Given the description of an element on the screen output the (x, y) to click on. 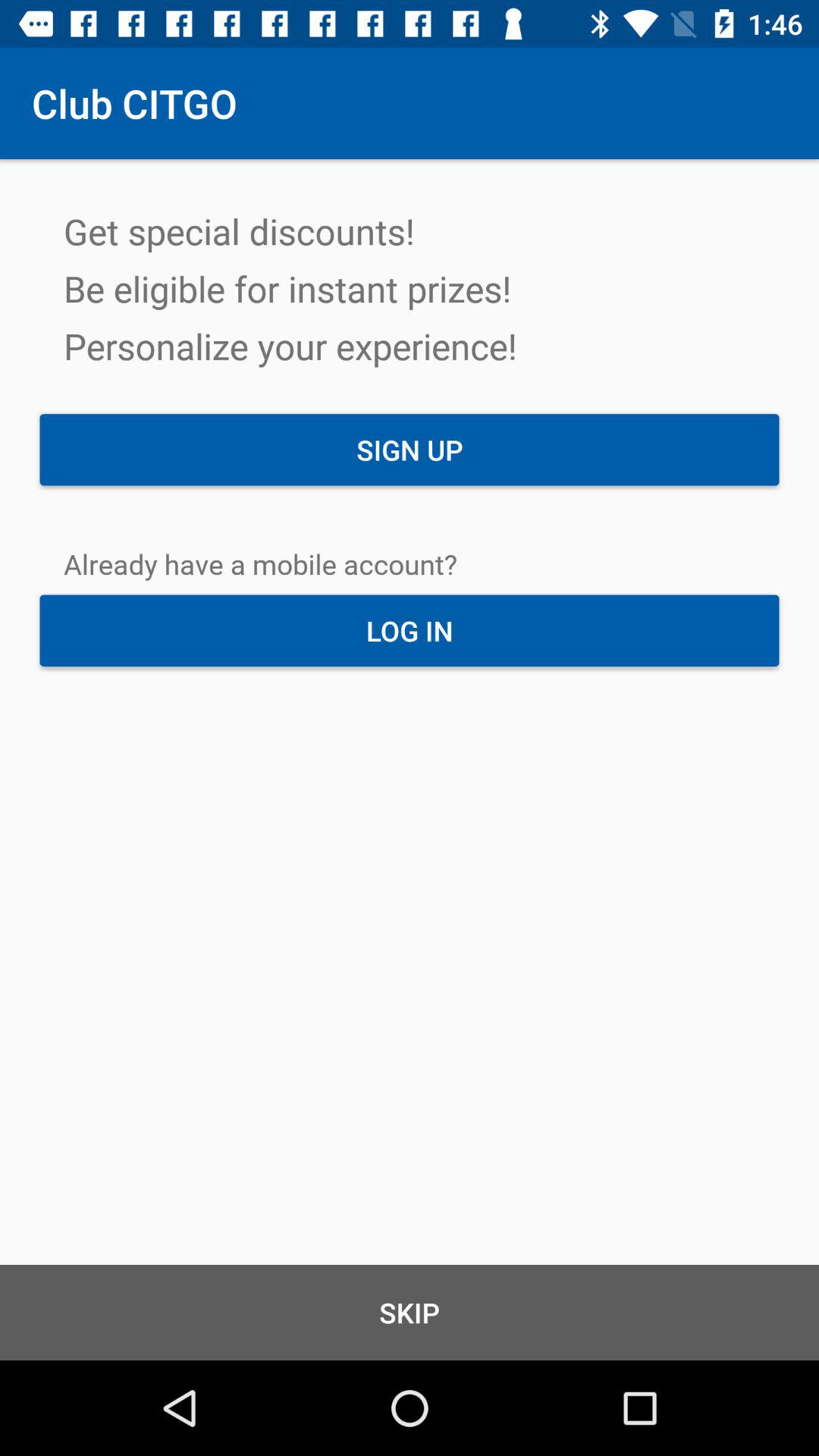
select the item above skip item (409, 630)
